Given the description of an element on the screen output the (x, y) to click on. 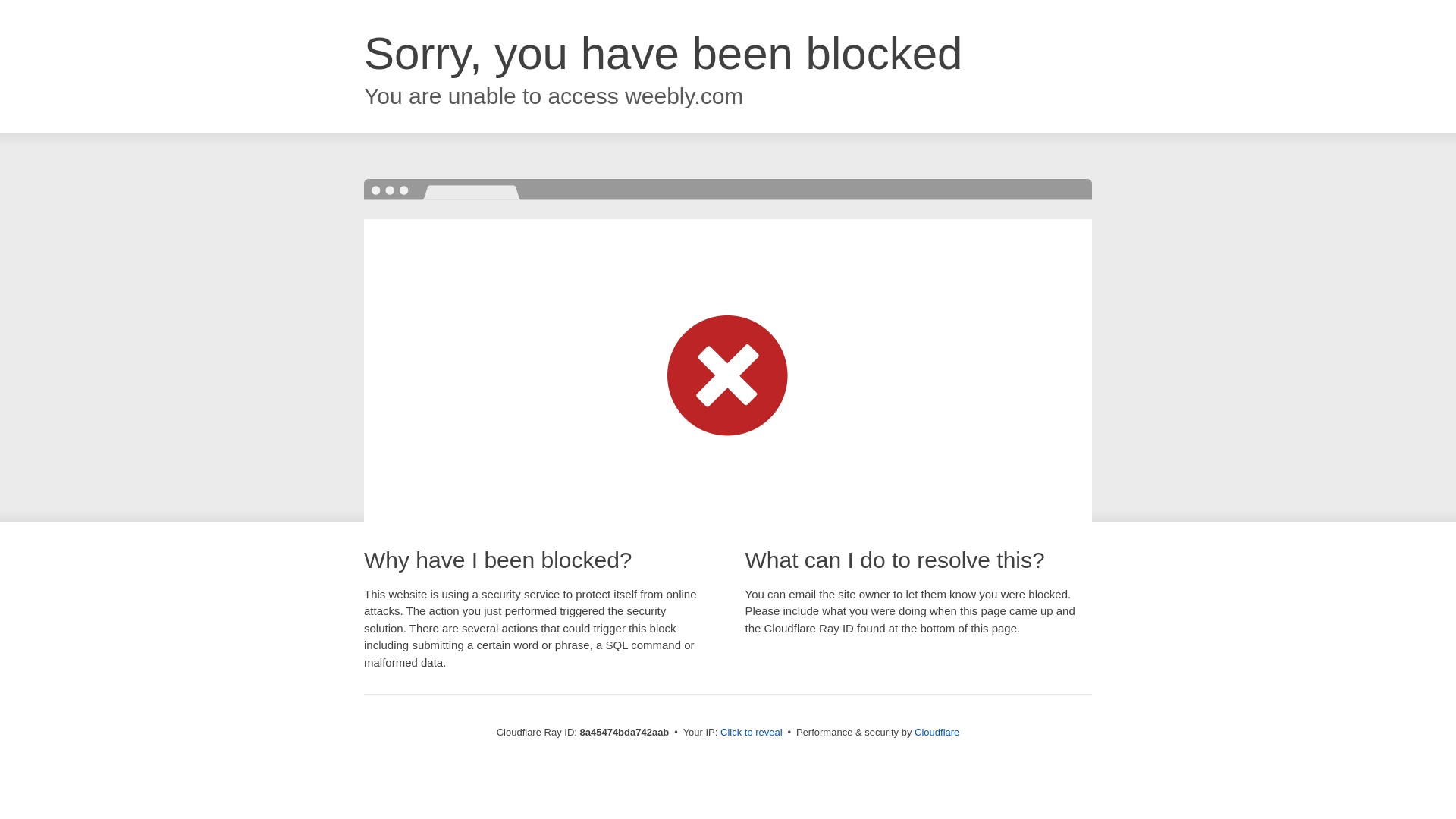
Cloudflare (936, 731)
Click to reveal (751, 732)
